Given the description of an element on the screen output the (x, y) to click on. 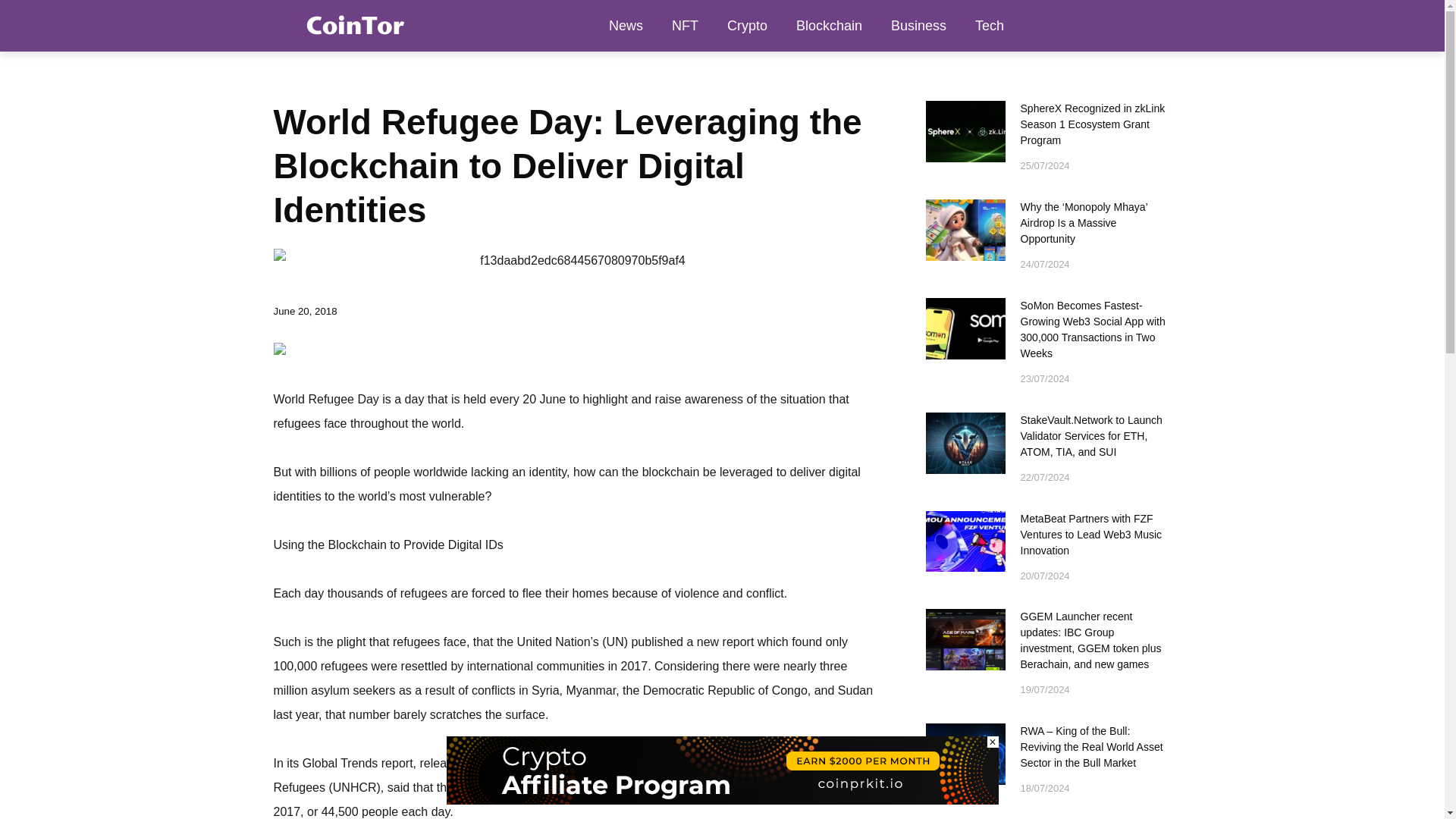
f13daabd2edc6844567080970b5f9af4 (576, 260)
NFT (685, 25)
Business (918, 25)
Blockchain (828, 25)
Crypto (747, 25)
CoinTor (353, 25)
Tech (988, 25)
close (992, 741)
News (626, 25)
